Given the description of an element on the screen output the (x, y) to click on. 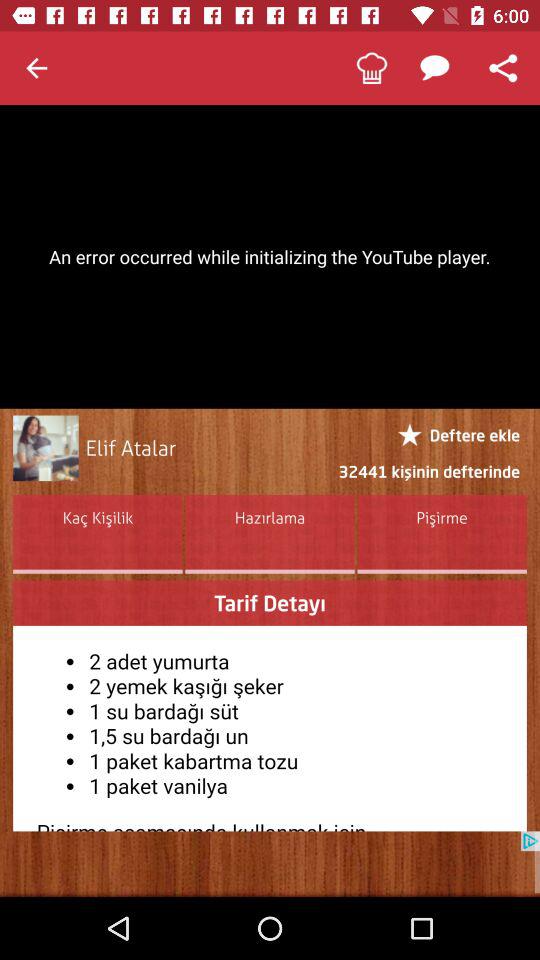
blank advertisement from google (270, 864)
